Given the description of an element on the screen output the (x, y) to click on. 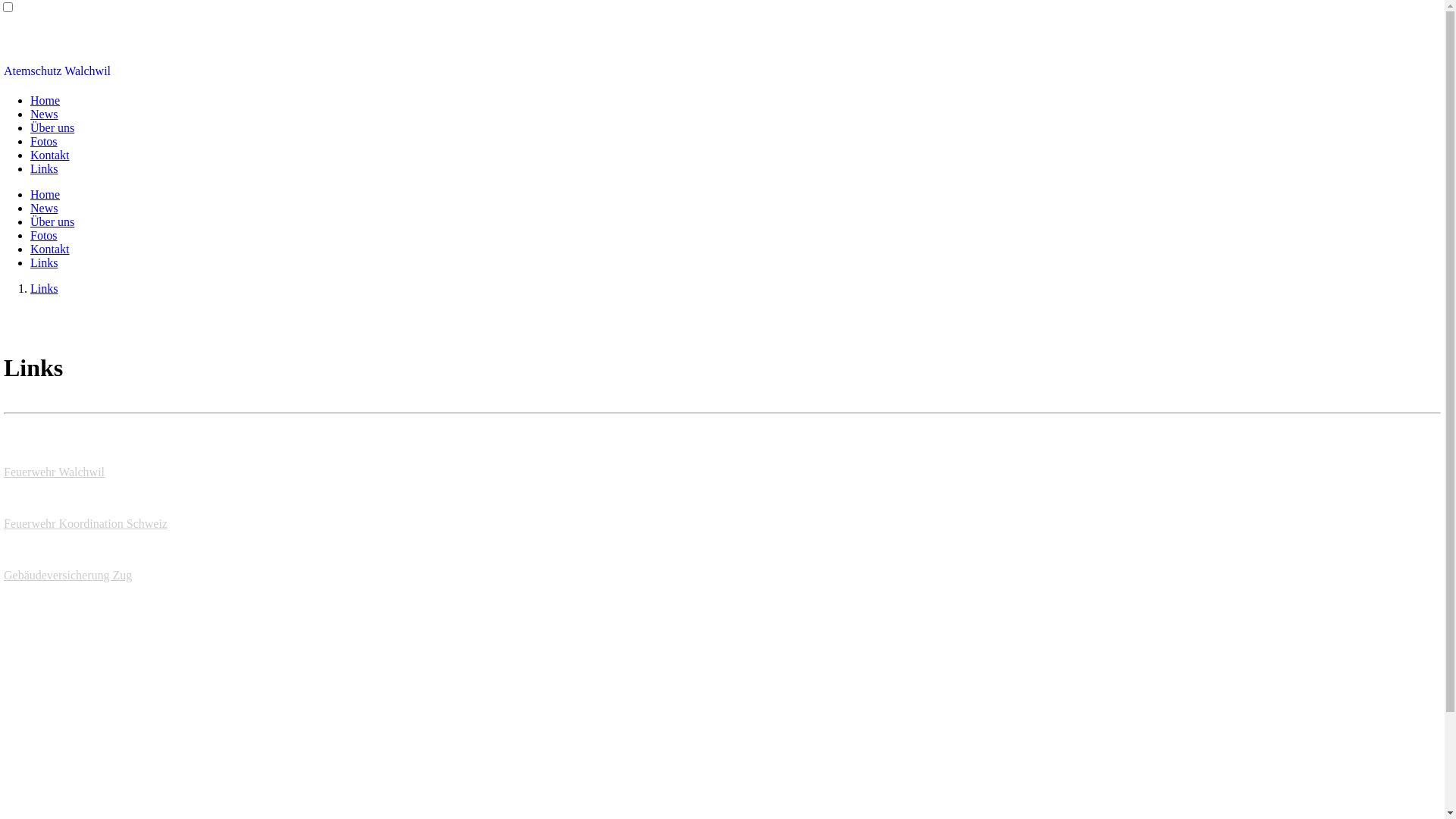
Links Element type: text (43, 168)
Links Element type: text (43, 288)
Kontakt Element type: text (49, 248)
Links Element type: text (43, 262)
Home Element type: text (44, 100)
Fotos Element type: text (43, 140)
News Element type: text (43, 207)
Kontakt Element type: text (49, 154)
News Element type: text (43, 113)
Atemschutz Walchwil Element type: text (56, 70)
Home Element type: text (44, 194)
Feuerwehr Walchwil Element type: text (53, 471)
Fotos Element type: text (43, 235)
Feuerwehr Koordination Schweiz Element type: text (85, 523)
